Given the description of an element on the screen output the (x, y) to click on. 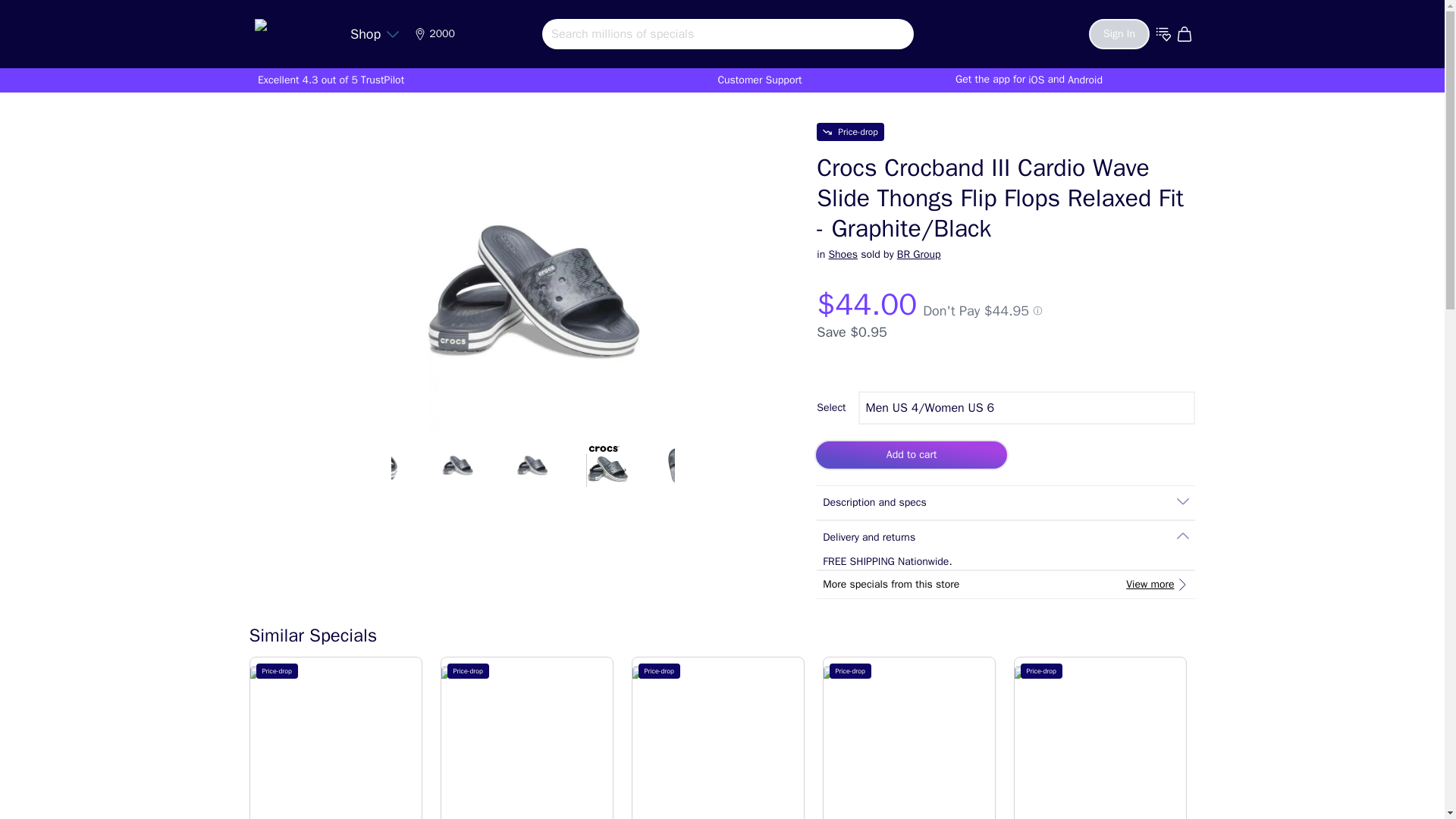
Shop (374, 33)
Crocs Crocband Croslite Flip Flops Thongs Summer - Black (717, 742)
lasoo (291, 30)
Go to cart (1185, 33)
TARRAMARR Flip Flops Thongs Heliam (1291, 742)
Go to wishlist (1163, 33)
